Given the description of an element on the screen output the (x, y) to click on. 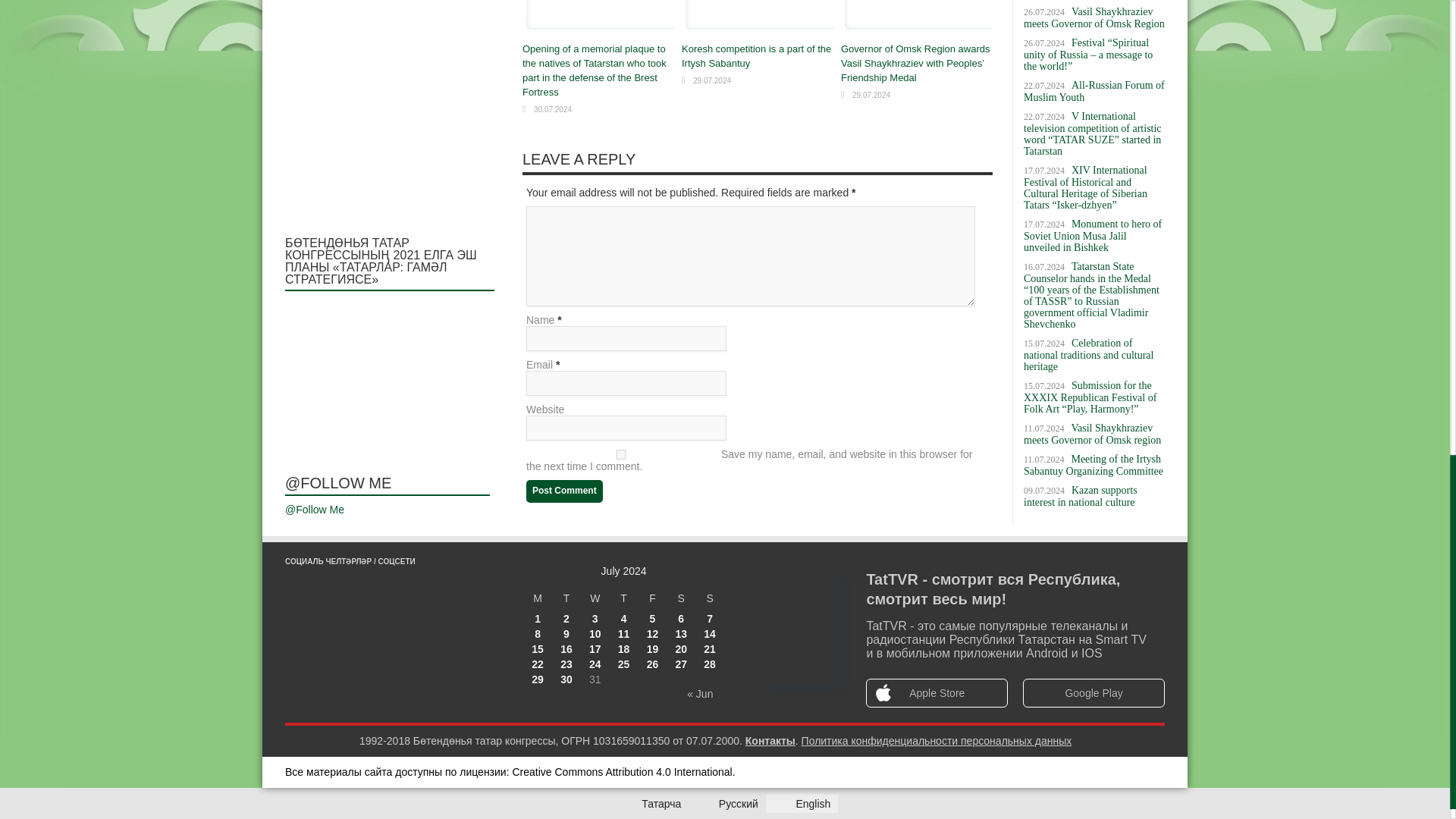
Post Comment (563, 490)
Koresh competition is a part of the Irtysh Sabantuy (756, 55)
Monday (537, 598)
Post Comment (563, 490)
Telegram (355, 630)
Tuesday (566, 598)
yes (620, 454)
Thursday (623, 598)
Wednesday (594, 598)
